Given the description of an element on the screen output the (x, y) to click on. 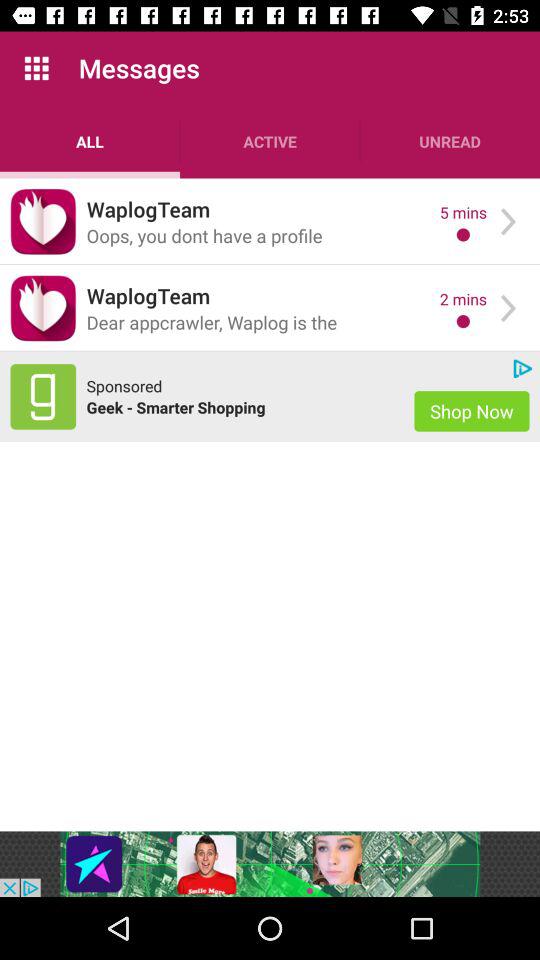
profile icon (43, 221)
